Given the description of an element on the screen output the (x, y) to click on. 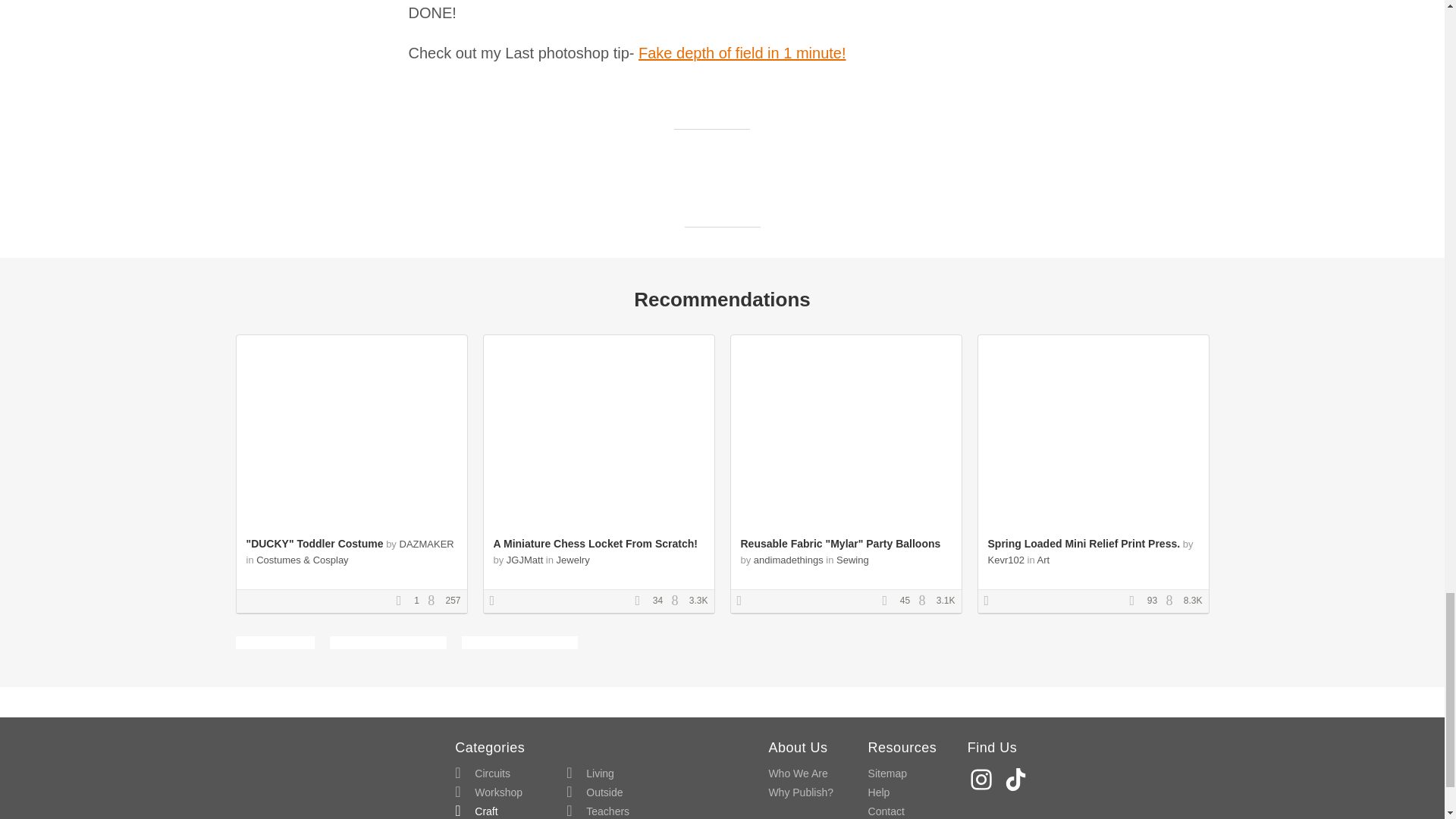
Reusable Fabric "Mylar" Party Balloons (839, 543)
Views Count (1173, 601)
Favorites Count (641, 601)
Views Count (435, 601)
andimadethings (789, 559)
Kevr102 (1005, 559)
Contest Winner (497, 601)
Favorites Count (889, 601)
Jewelry (572, 559)
Instagram (983, 779)
Views Count (678, 601)
Art (1042, 559)
Spring Loaded Mini Relief Print Press. (1083, 543)
A Miniature Chess Locket From Scratch! (595, 543)
Contest Winner (991, 601)
